Given the description of an element on the screen output the (x, y) to click on. 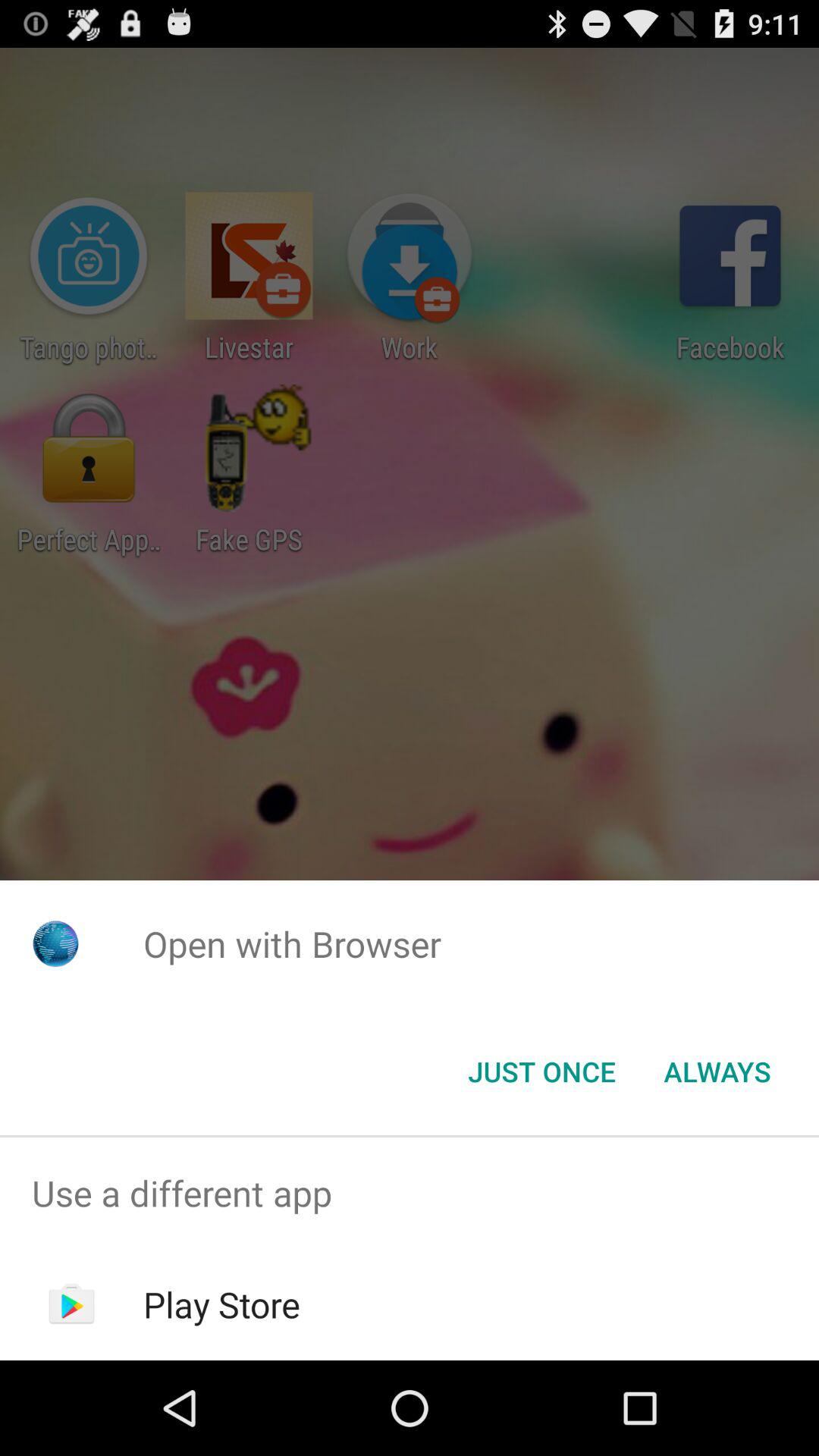
select item to the left of always item (541, 1071)
